Given the description of an element on the screen output the (x, y) to click on. 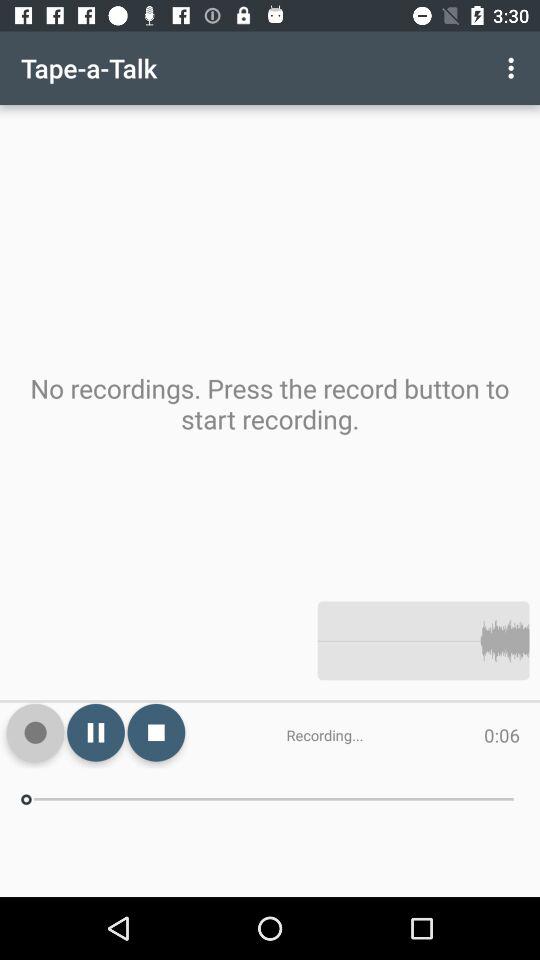
turn on icon next to recording... (156, 732)
